Given the description of an element on the screen output the (x, y) to click on. 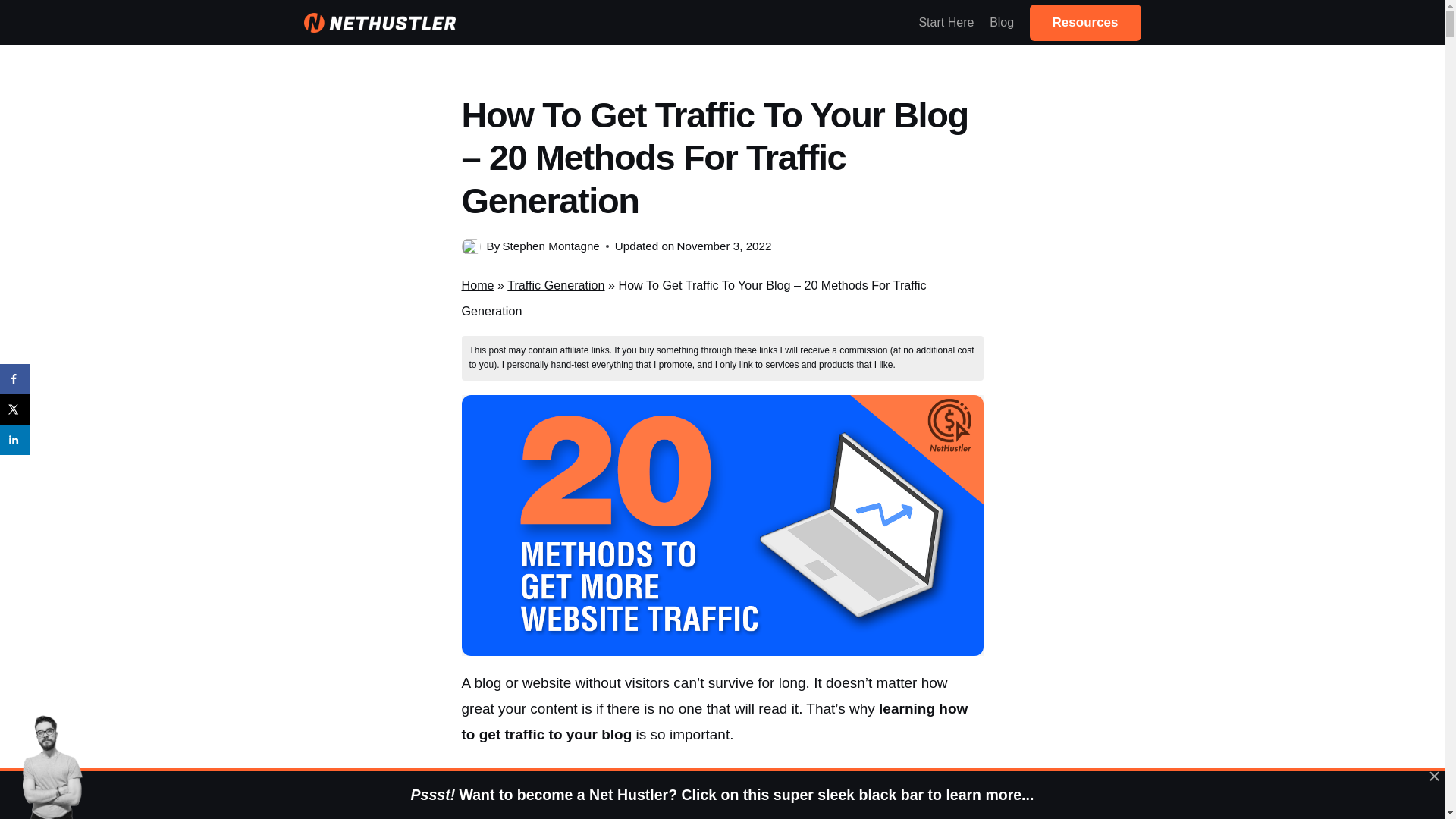
Resources (1085, 22)
Share on LinkedIn (15, 440)
Home (477, 284)
Blog (1001, 22)
Start Here (946, 22)
Share on Facebook (15, 378)
starting out blogging (607, 784)
Share on X (15, 409)
Traffic Generation (555, 284)
